Given the description of an element on the screen output the (x, y) to click on. 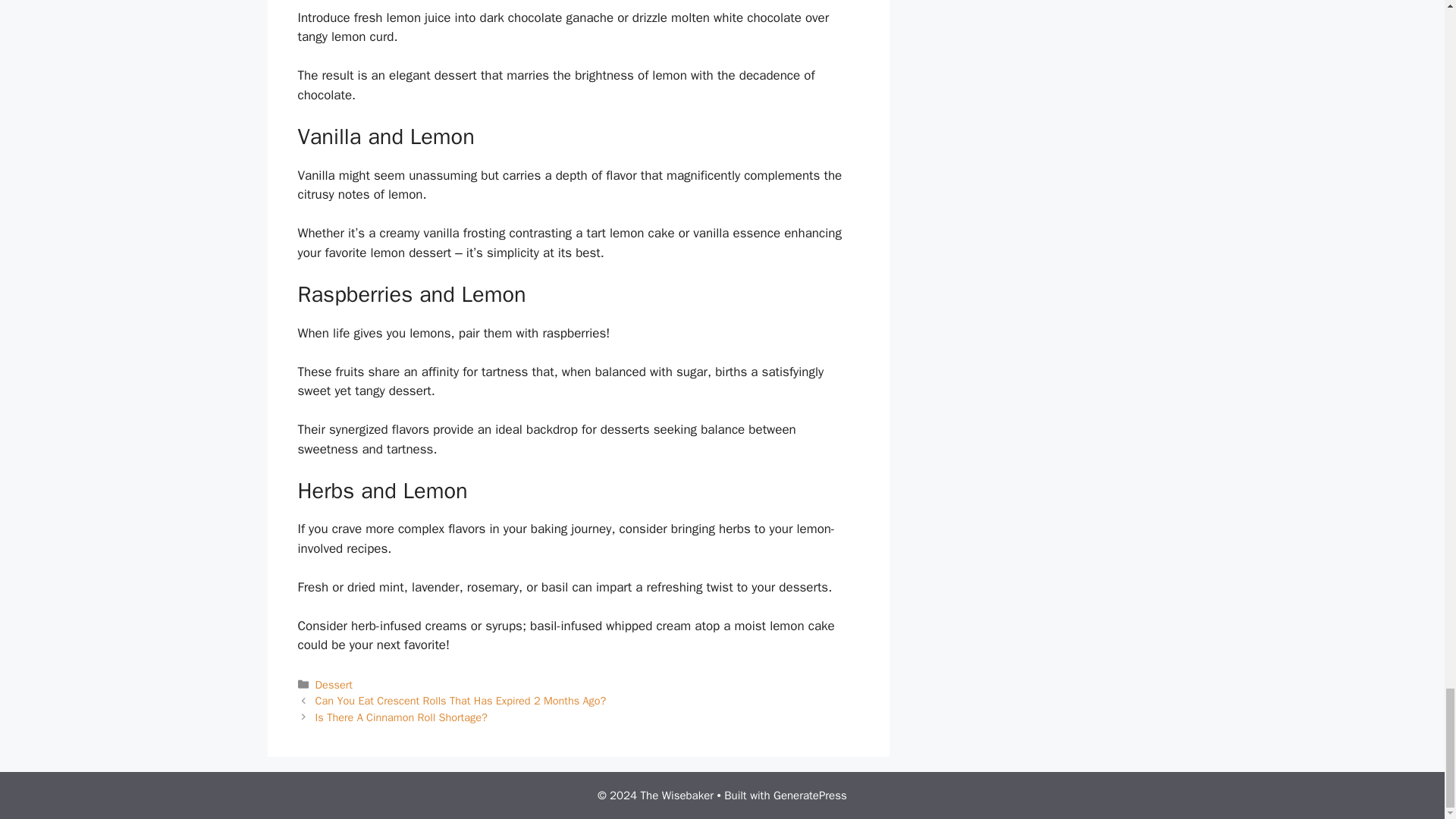
Dessert (333, 684)
